Given the description of an element on the screen output the (x, y) to click on. 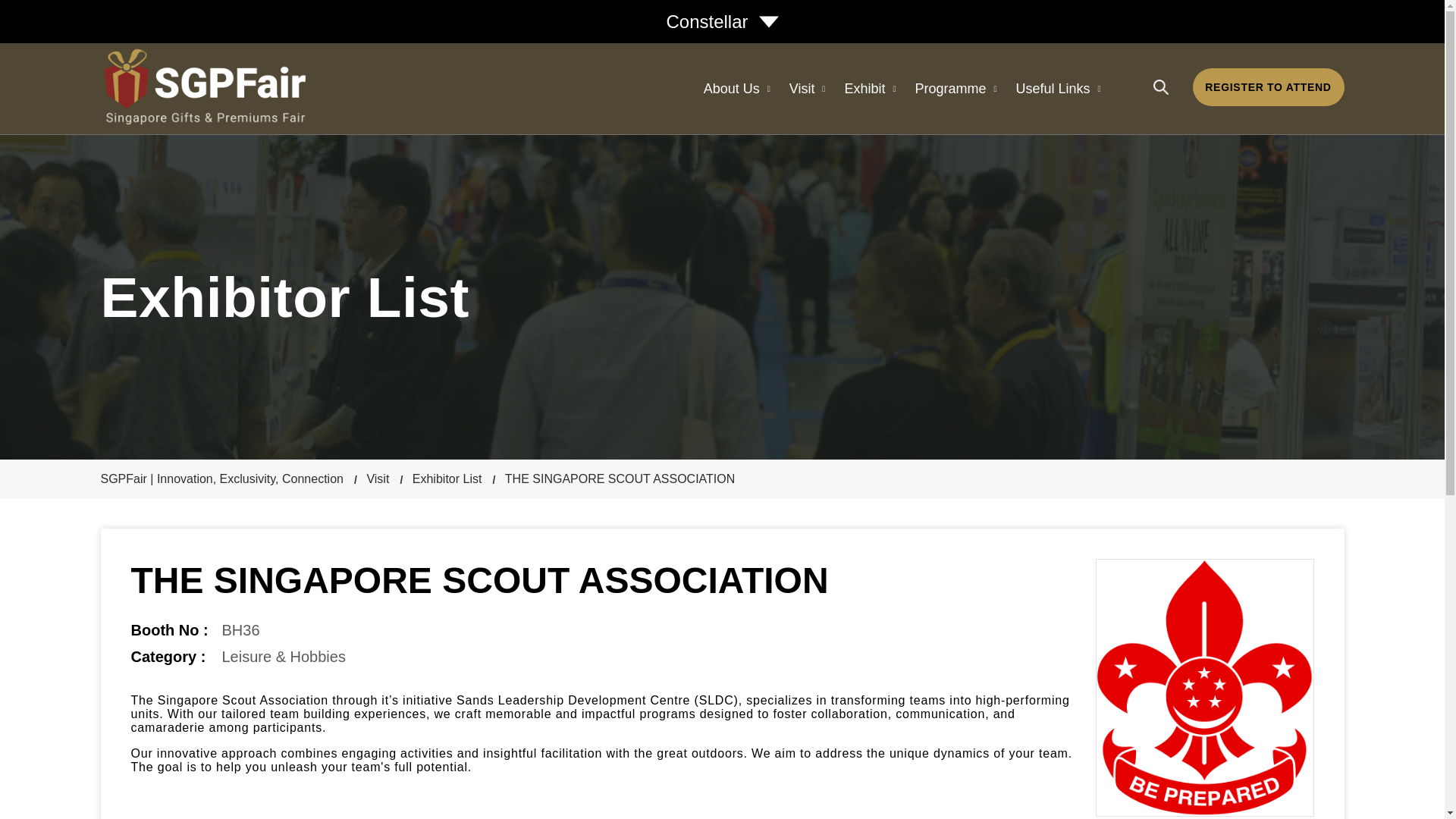
Visit (384, 478)
REGISTER TO ATTEND (1267, 86)
Programme (954, 88)
Exhibitor List (454, 478)
Constellar (721, 21)
Useful Links (1057, 88)
